Given the description of an element on the screen output the (x, y) to click on. 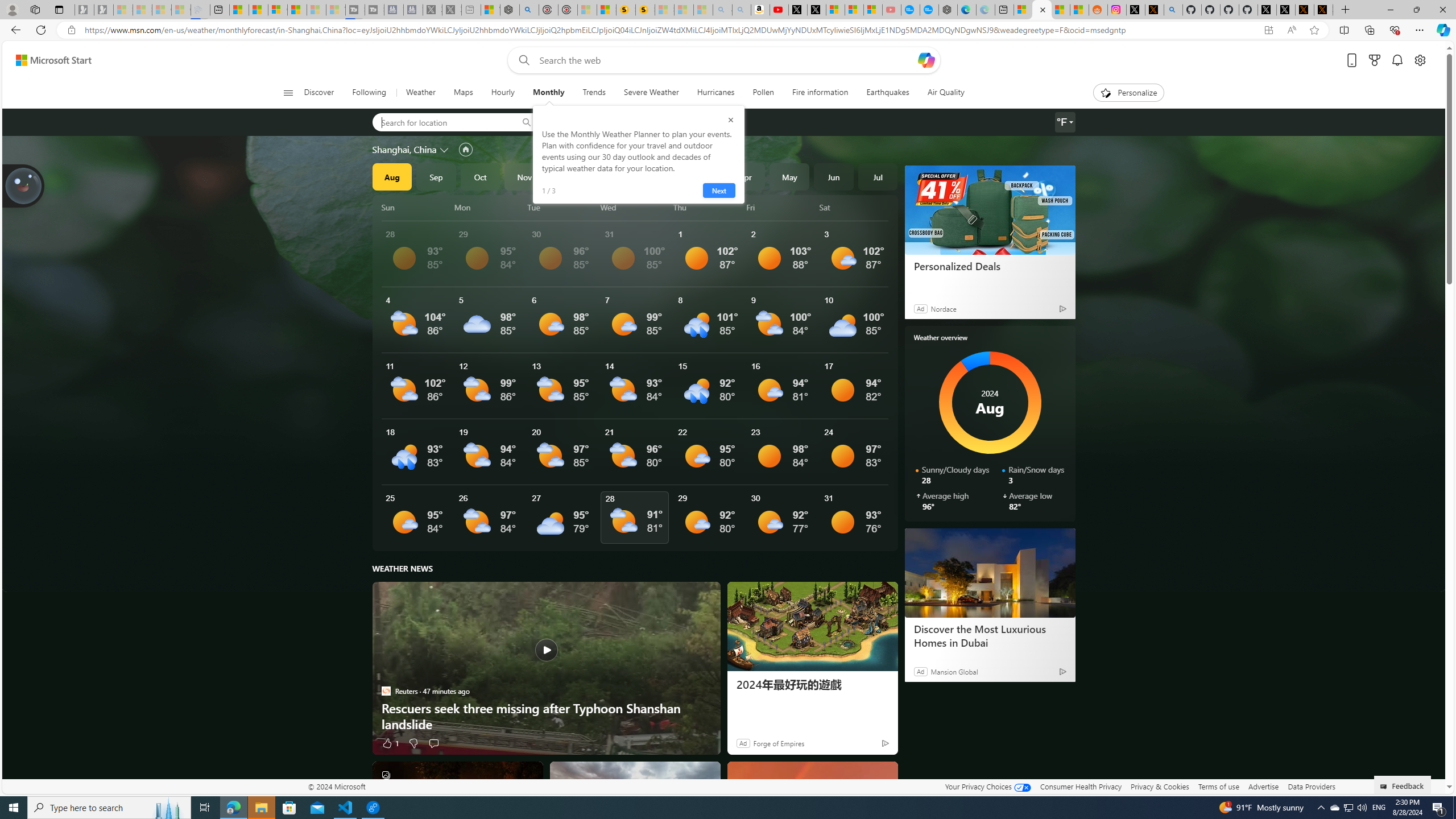
Earthquakes (887, 92)
Tue (561, 207)
GitHub (@github) / X (1285, 9)
Sat (853, 207)
Thu (707, 207)
Mar (700, 176)
May (789, 176)
